Given the description of an element on the screen output the (x, y) to click on. 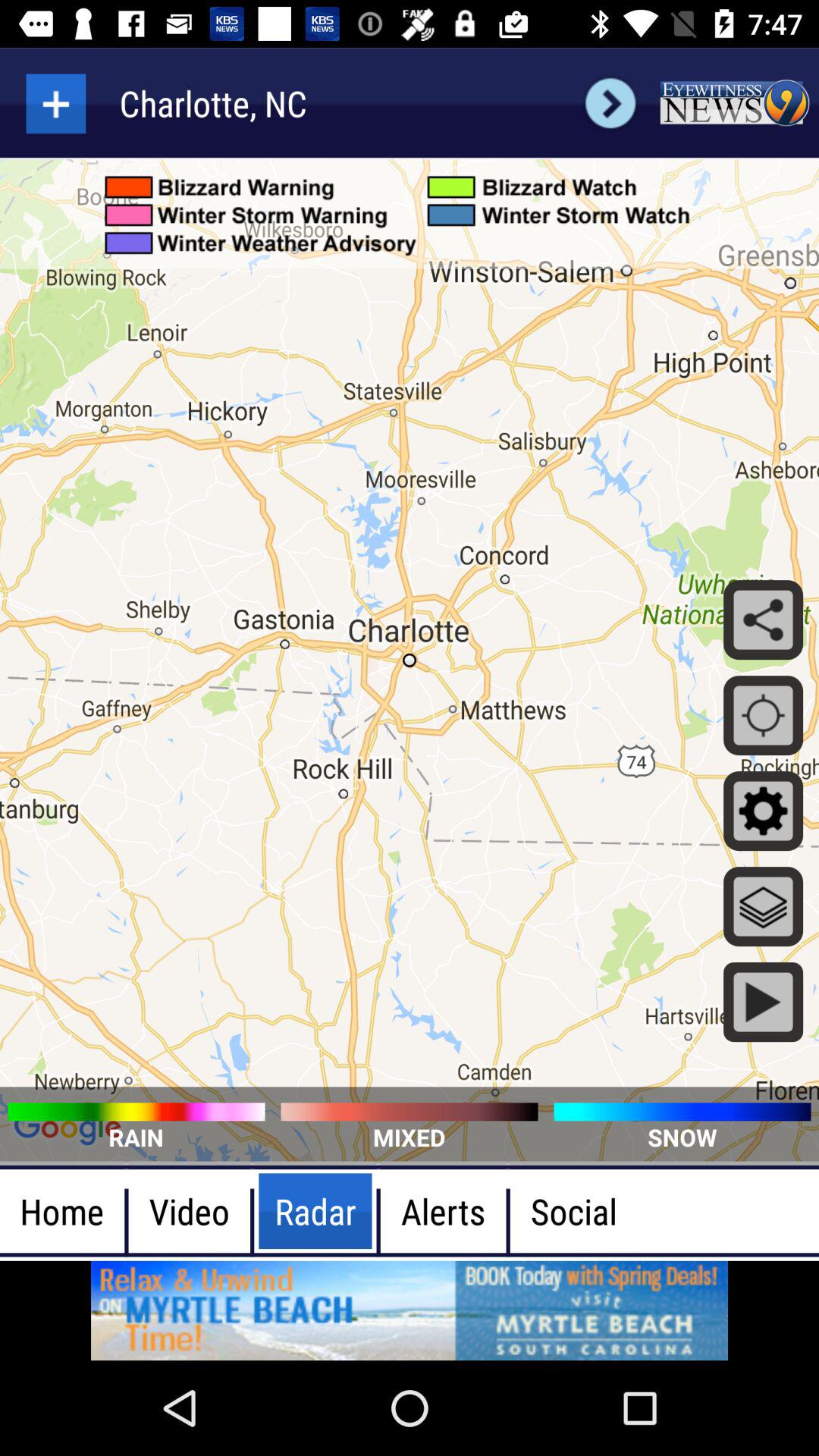
add radar (55, 103)
